Given the description of an element on the screen output the (x, y) to click on. 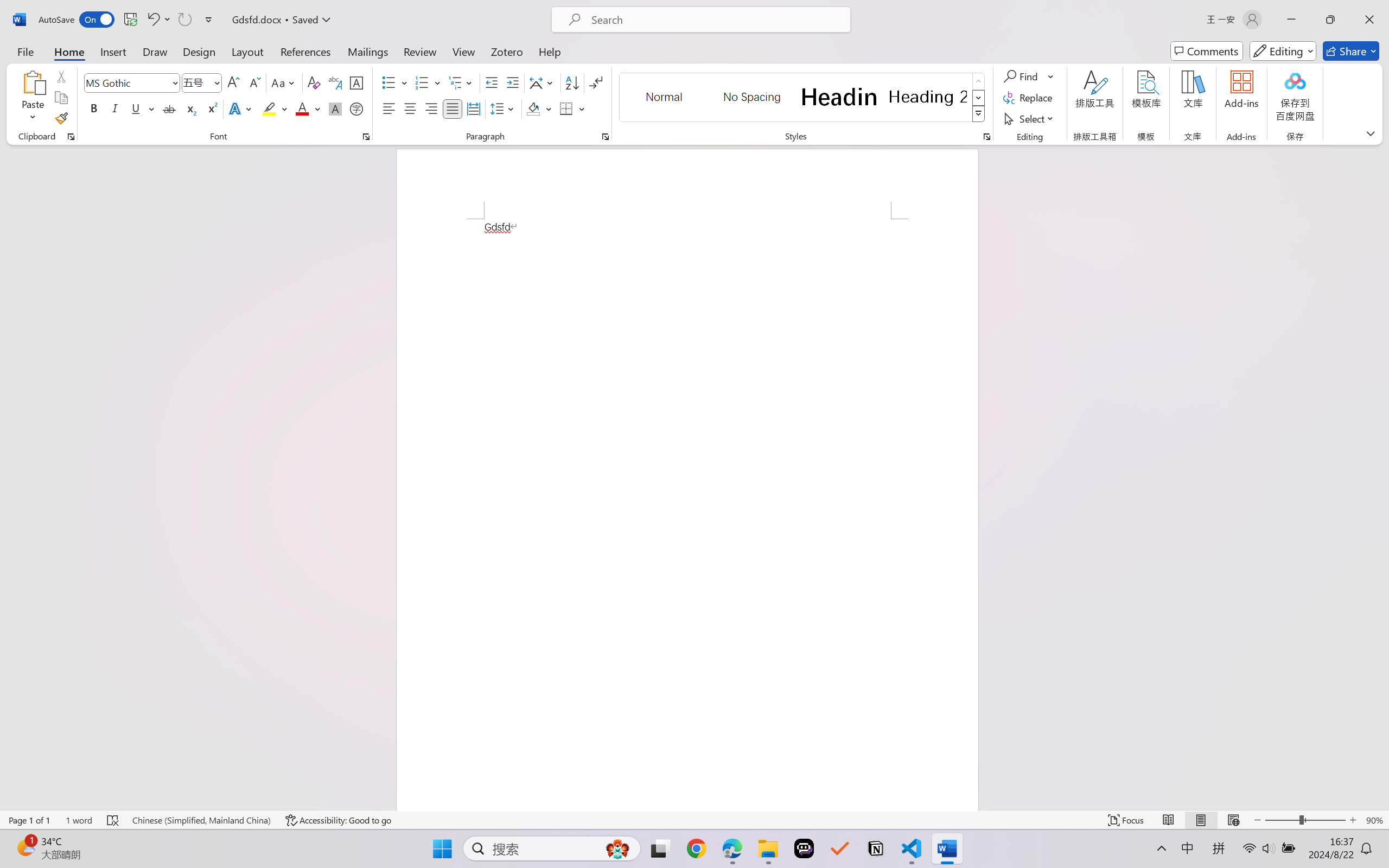
Undo Font Formatting (158, 19)
